Given the description of an element on the screen output the (x, y) to click on. 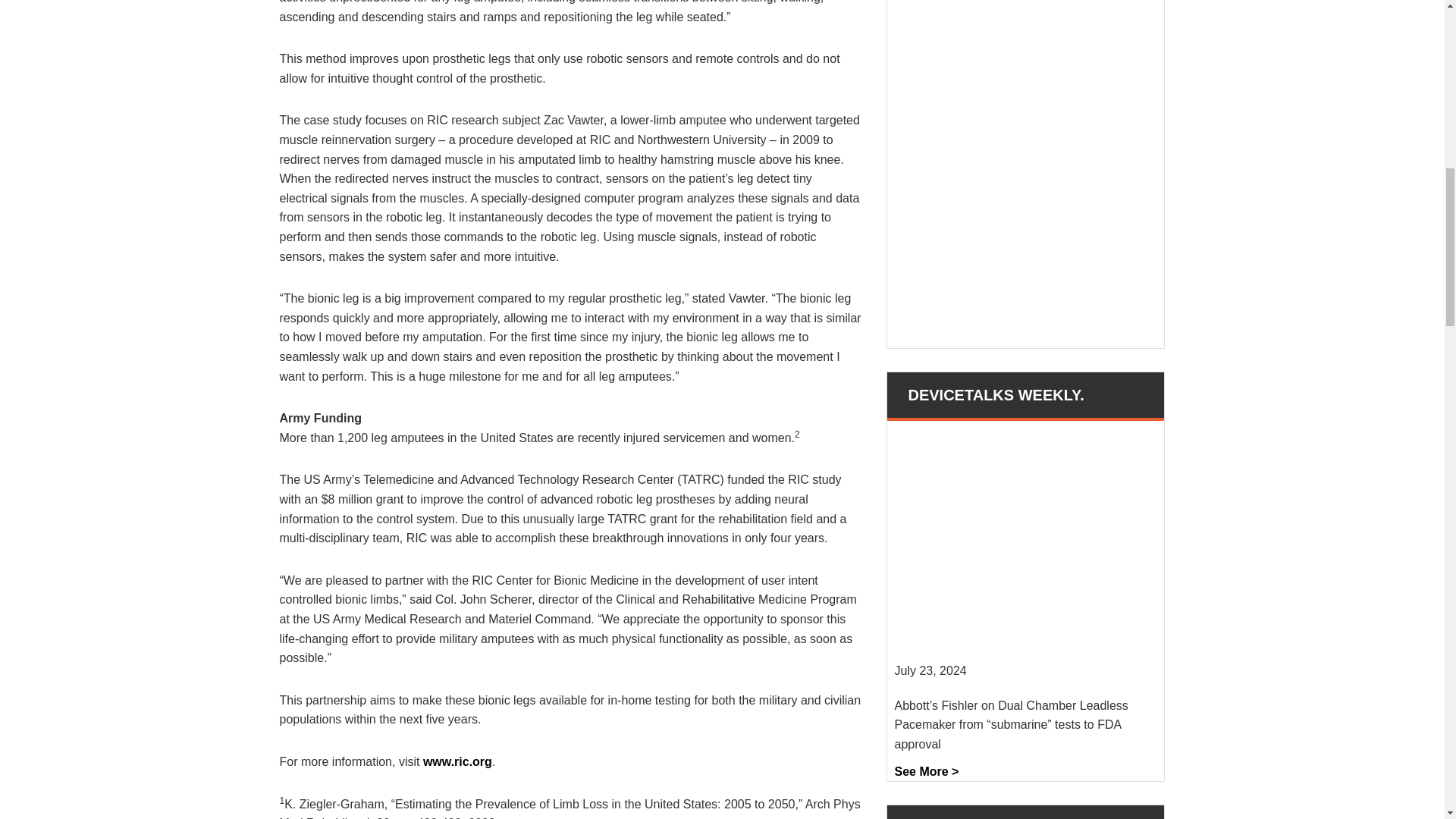
Link opens in new window (457, 761)
